Given the description of an element on the screen output the (x, y) to click on. 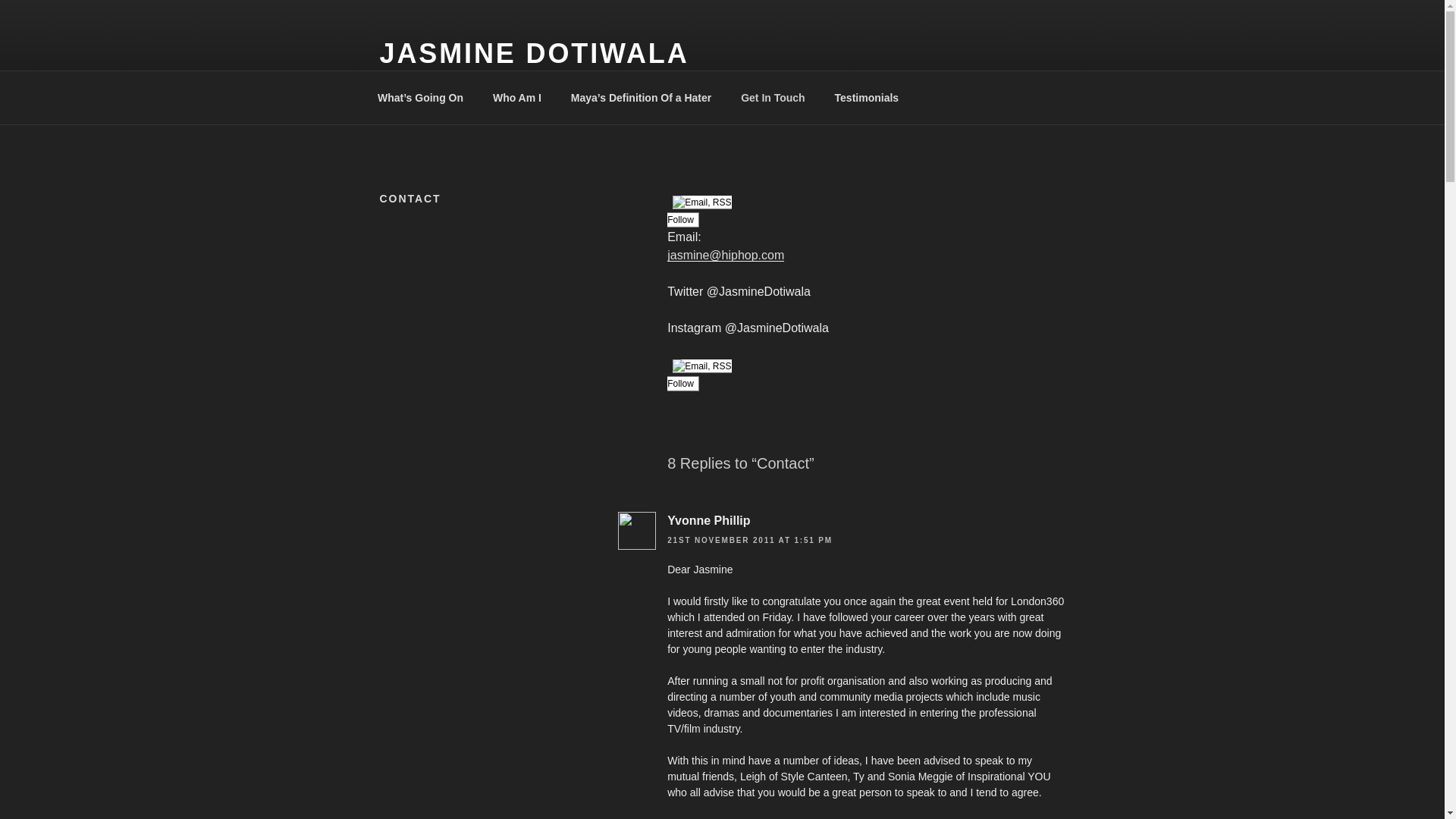
Email, RSS (701, 202)
Follow (698, 210)
Follow (698, 374)
Email, RSS (701, 366)
JASMINE DOTIWALA (533, 52)
Who Am I (516, 97)
Get In Touch (773, 97)
21ST NOVEMBER 2011 AT 1:51 PM (749, 540)
Testimonials (866, 97)
